Given the description of an element on the screen output the (x, y) to click on. 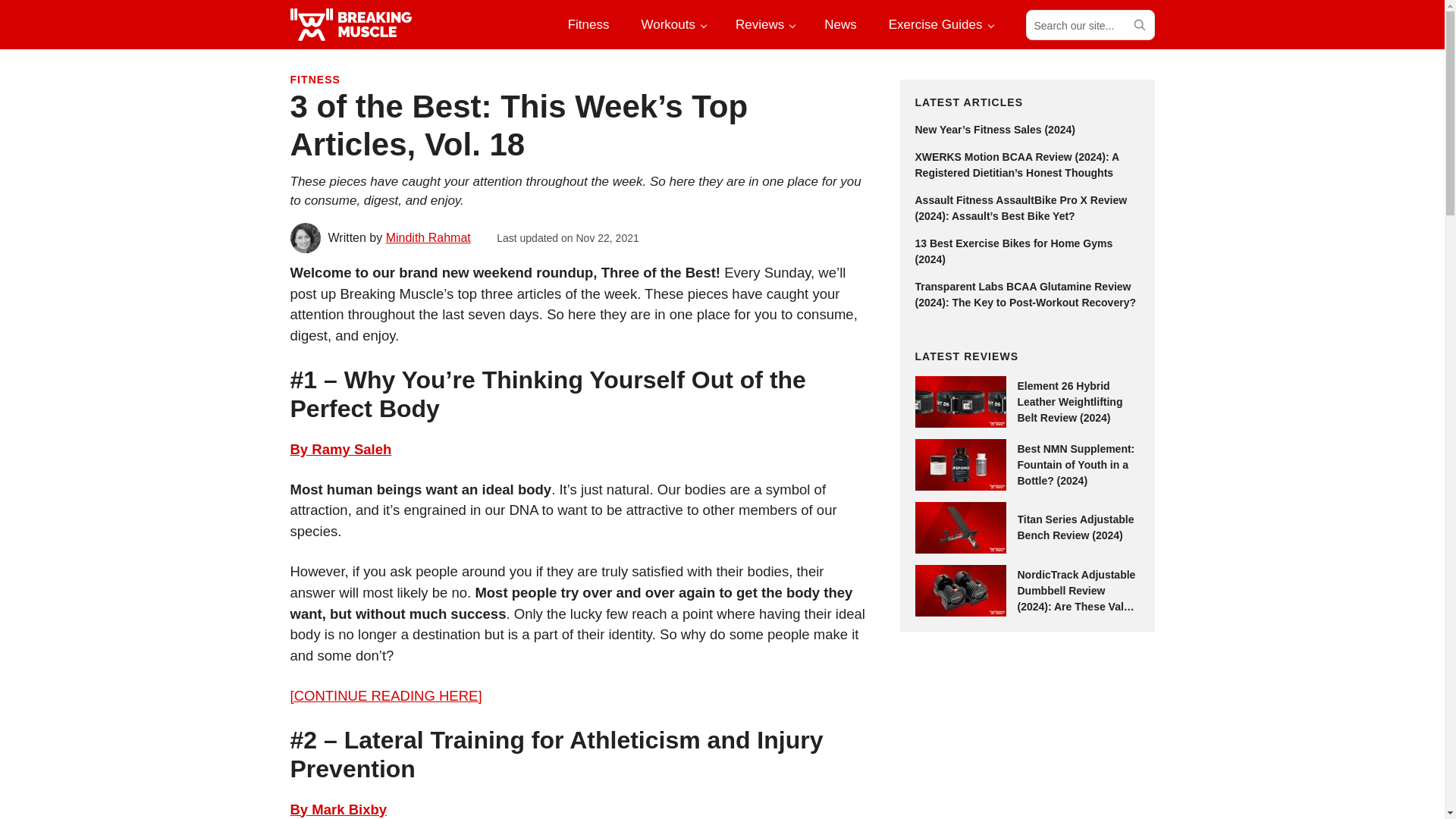
Reviews (764, 24)
Submit search (1138, 24)
Fitness (588, 24)
Submit search (1138, 24)
Workouts (672, 24)
